Given the description of an element on the screen output the (x, y) to click on. 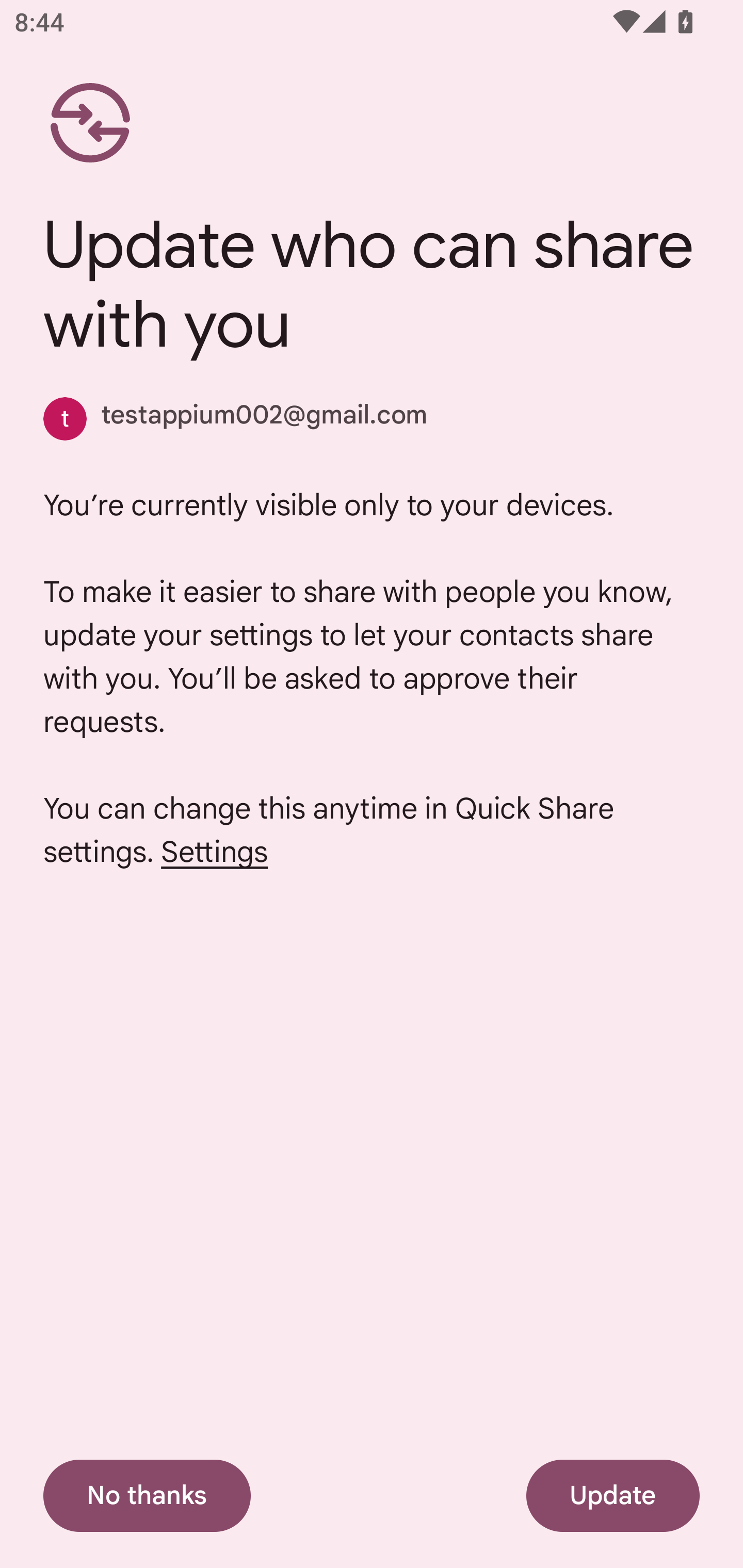
No thanks (147, 1495)
Update (612, 1495)
